Given the description of an element on the screen output the (x, y) to click on. 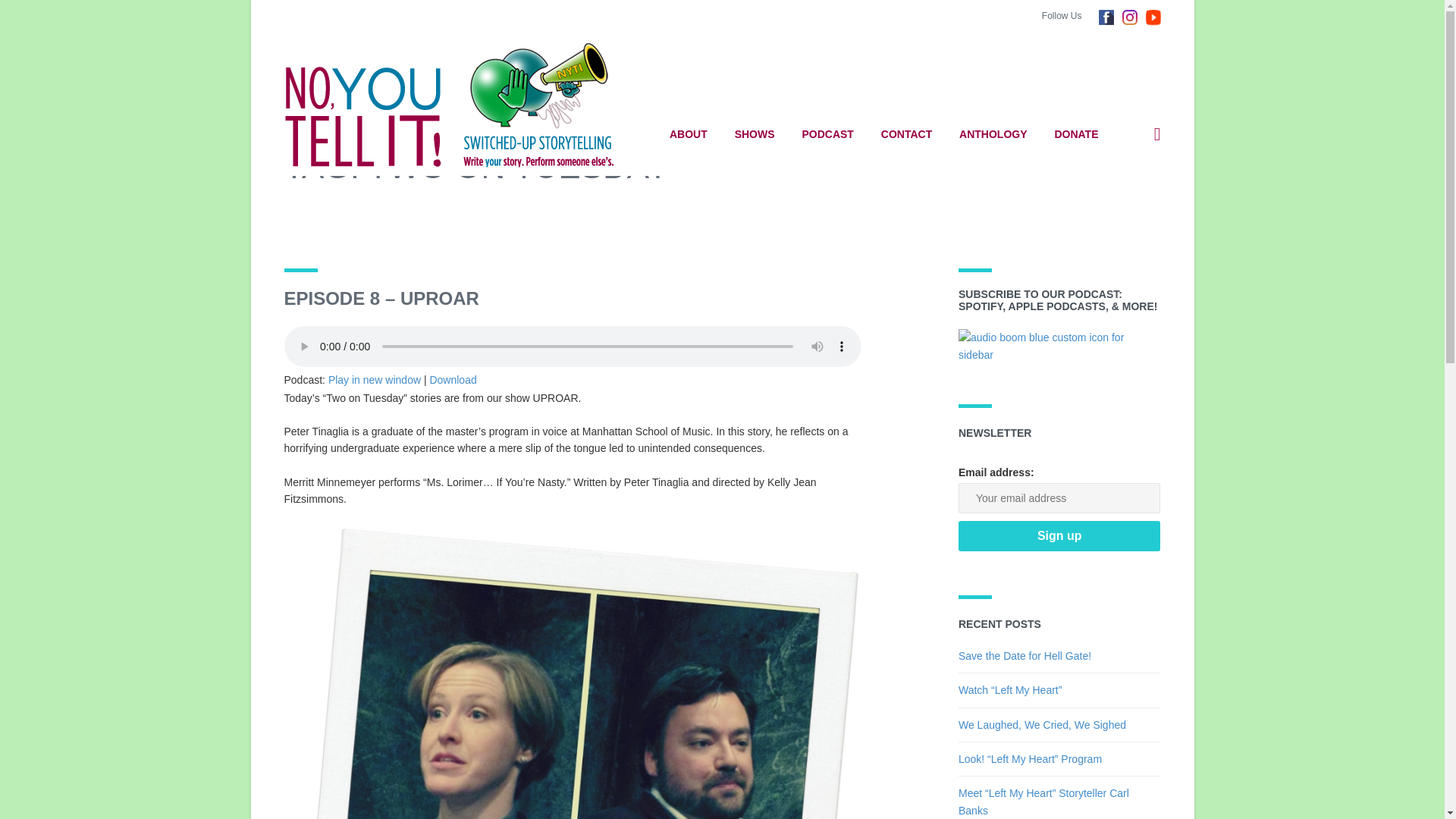
Download (452, 379)
PODCAST (826, 134)
No, YOU Tell It! (457, 104)
Play in new window (374, 379)
CONTACT (906, 134)
ANTHOLOGY (993, 134)
Sign up (1059, 535)
Search (1096, 206)
Play in new window (374, 379)
Download (452, 379)
